Given the description of an element on the screen output the (x, y) to click on. 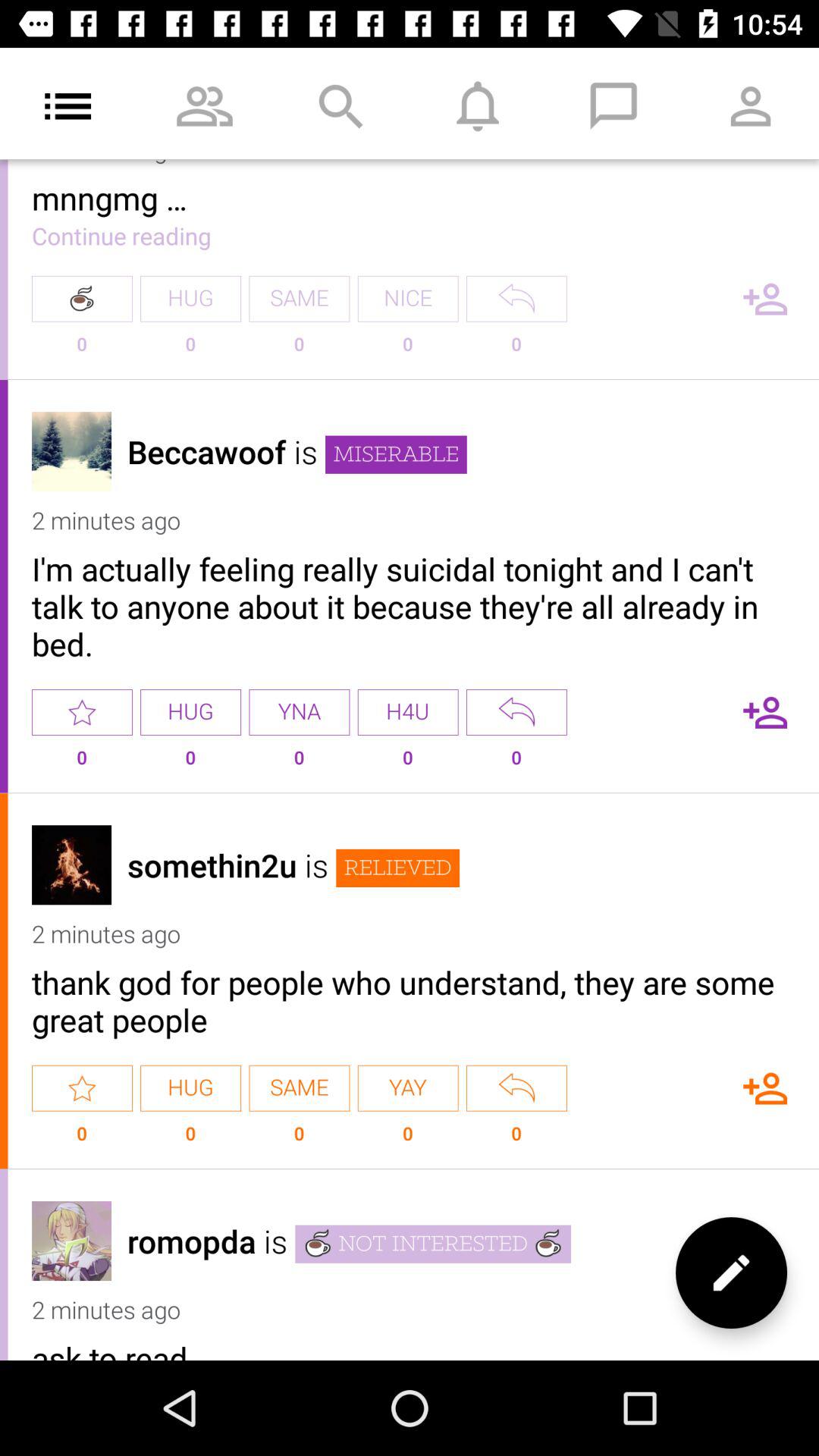
rate the article (81, 712)
